Given the description of an element on the screen output the (x, y) to click on. 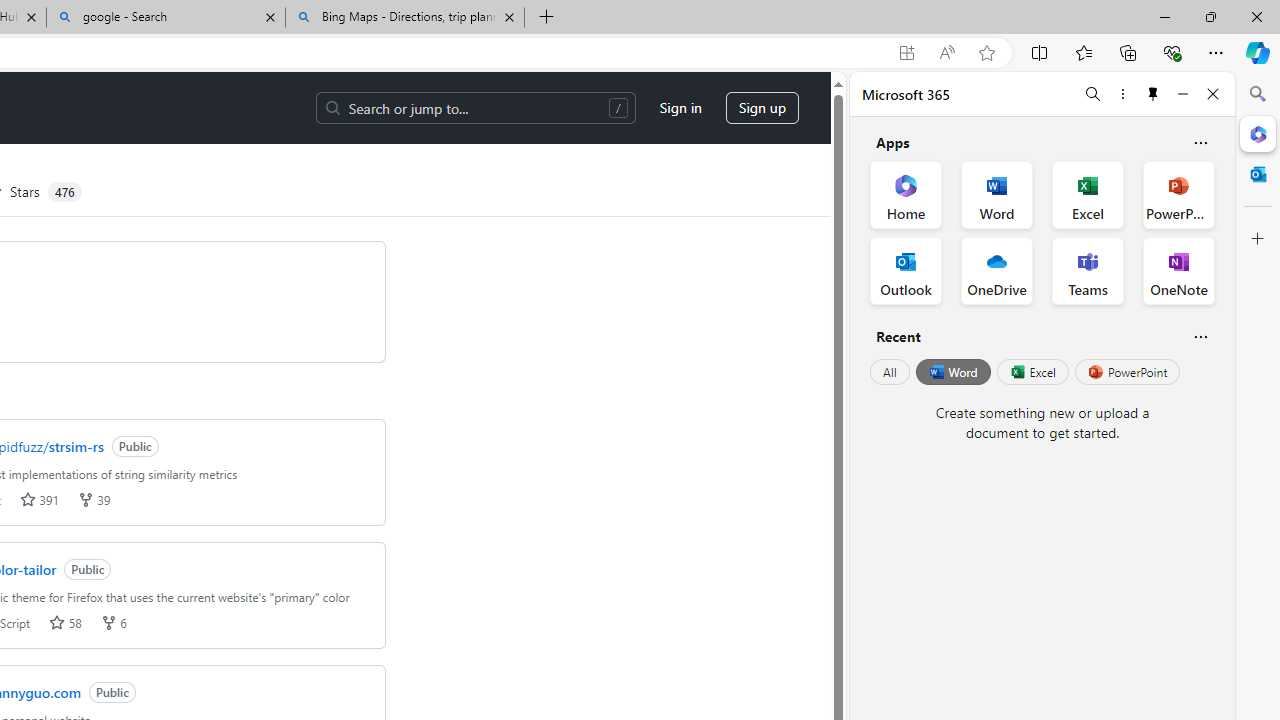
forks (107, 622)
forks 39 (94, 499)
Excel Office App (1087, 194)
All (890, 372)
Teams Office App (1087, 270)
Excel (1031, 372)
